Given the description of an element on the screen output the (x, y) to click on. 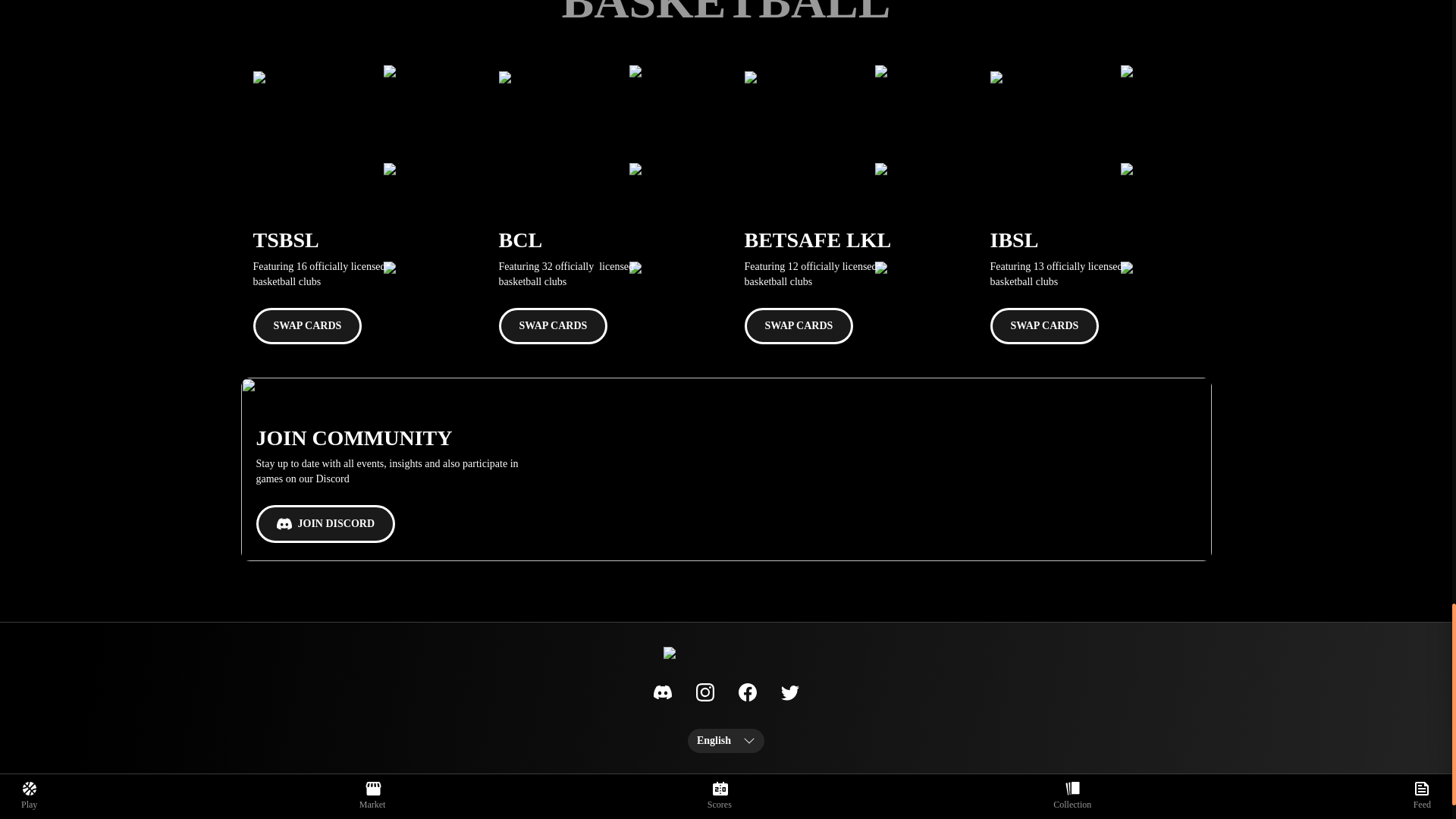
SWAP CARDS (1044, 325)
JOIN DISCORD (326, 523)
SWAP CARDS (553, 325)
Knowledge Base (531, 784)
Support (619, 784)
English (725, 740)
Terms and Conditions (719, 784)
SWAP CARDS (798, 325)
SWAP CARDS (307, 325)
Cookie Policy (926, 784)
Privacy Policy (830, 784)
